Given the description of an element on the screen output the (x, y) to click on. 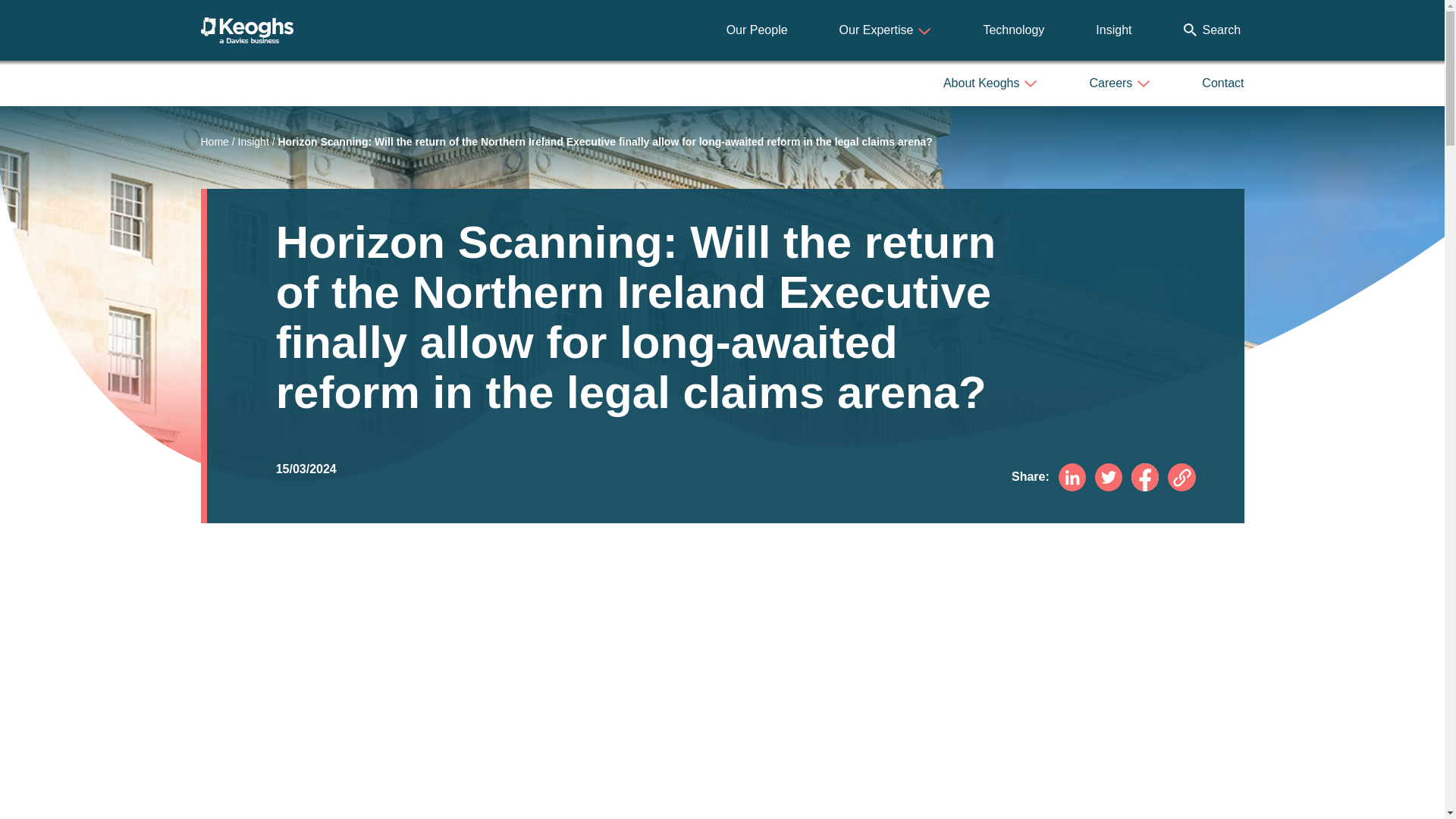
Our People (756, 30)
Our Expertise (885, 30)
Technology (1012, 30)
